Given the description of an element on the screen output the (x, y) to click on. 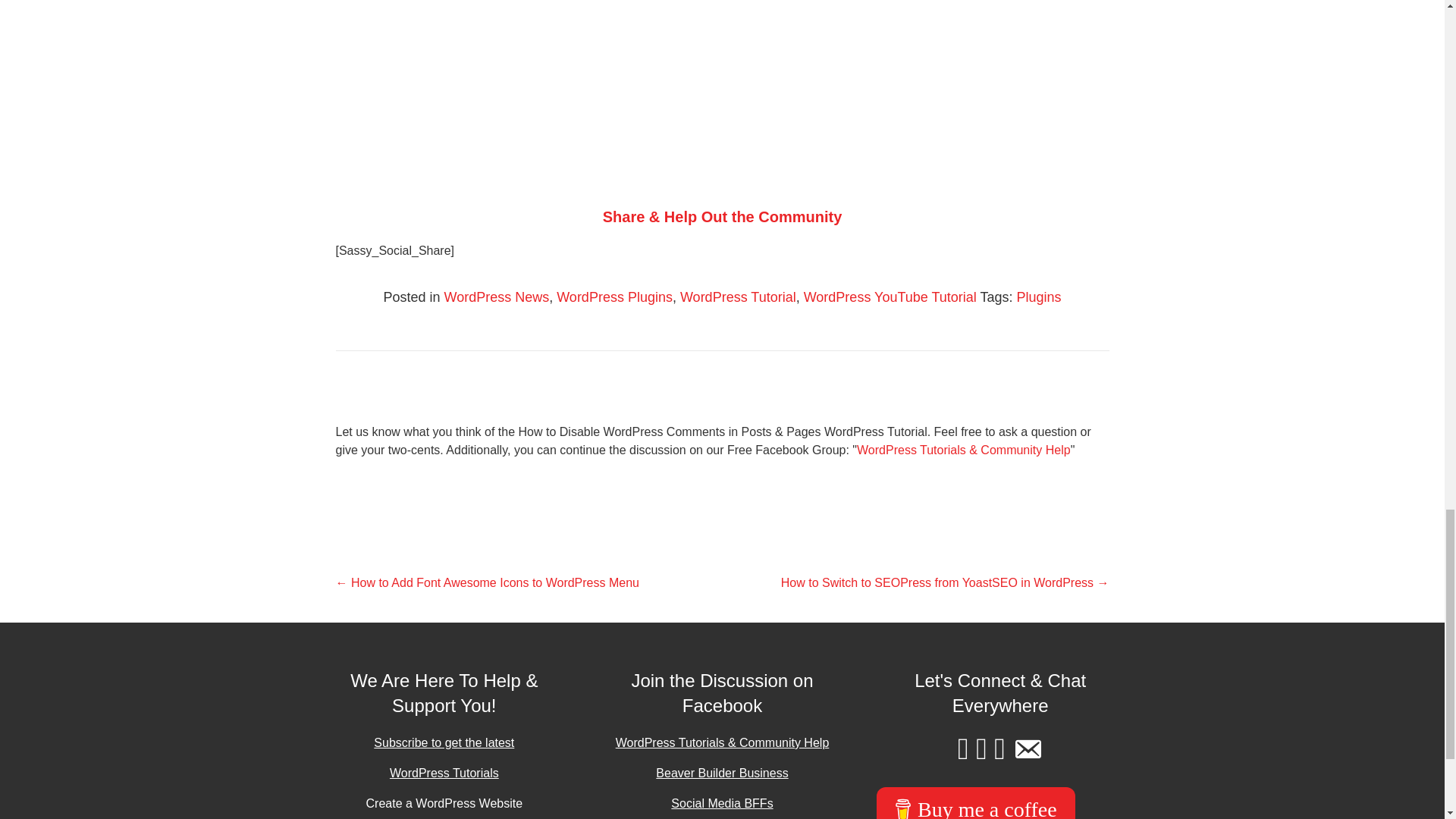
WordPress YouTube Tutorial (889, 296)
Beaver Builder Business (721, 772)
Plugins (1038, 296)
Subscribe to get the latest (443, 742)
WordPress Tutorials (444, 772)
WordPress News (496, 296)
WordPress Plugins (614, 296)
WordPress Tutorial (737, 296)
Social Media BFFs (722, 802)
Create a WordPress Website (443, 802)
